Given the description of an element on the screen output the (x, y) to click on. 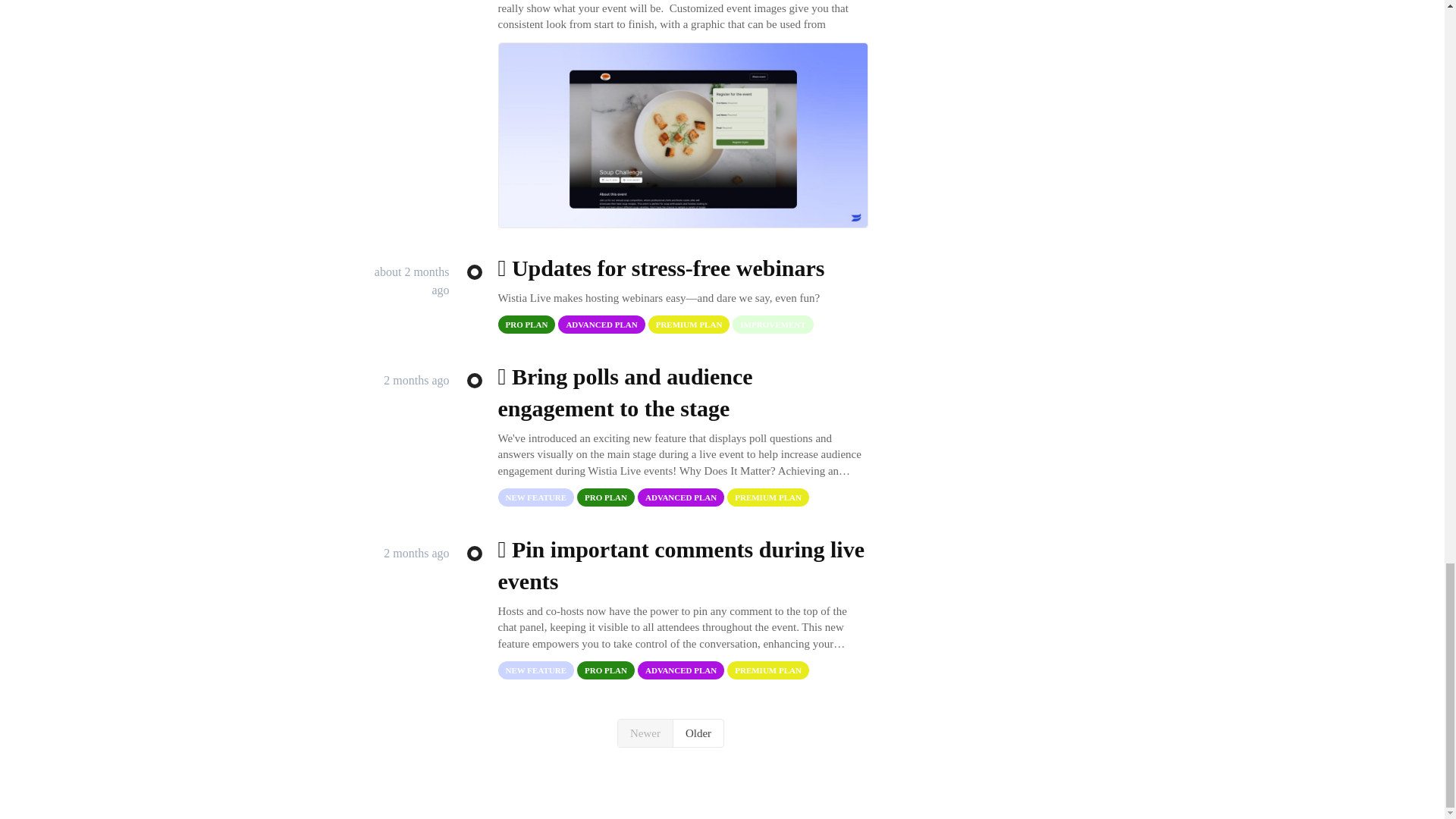
Older (698, 733)
